Given the description of an element on the screen output the (x, y) to click on. 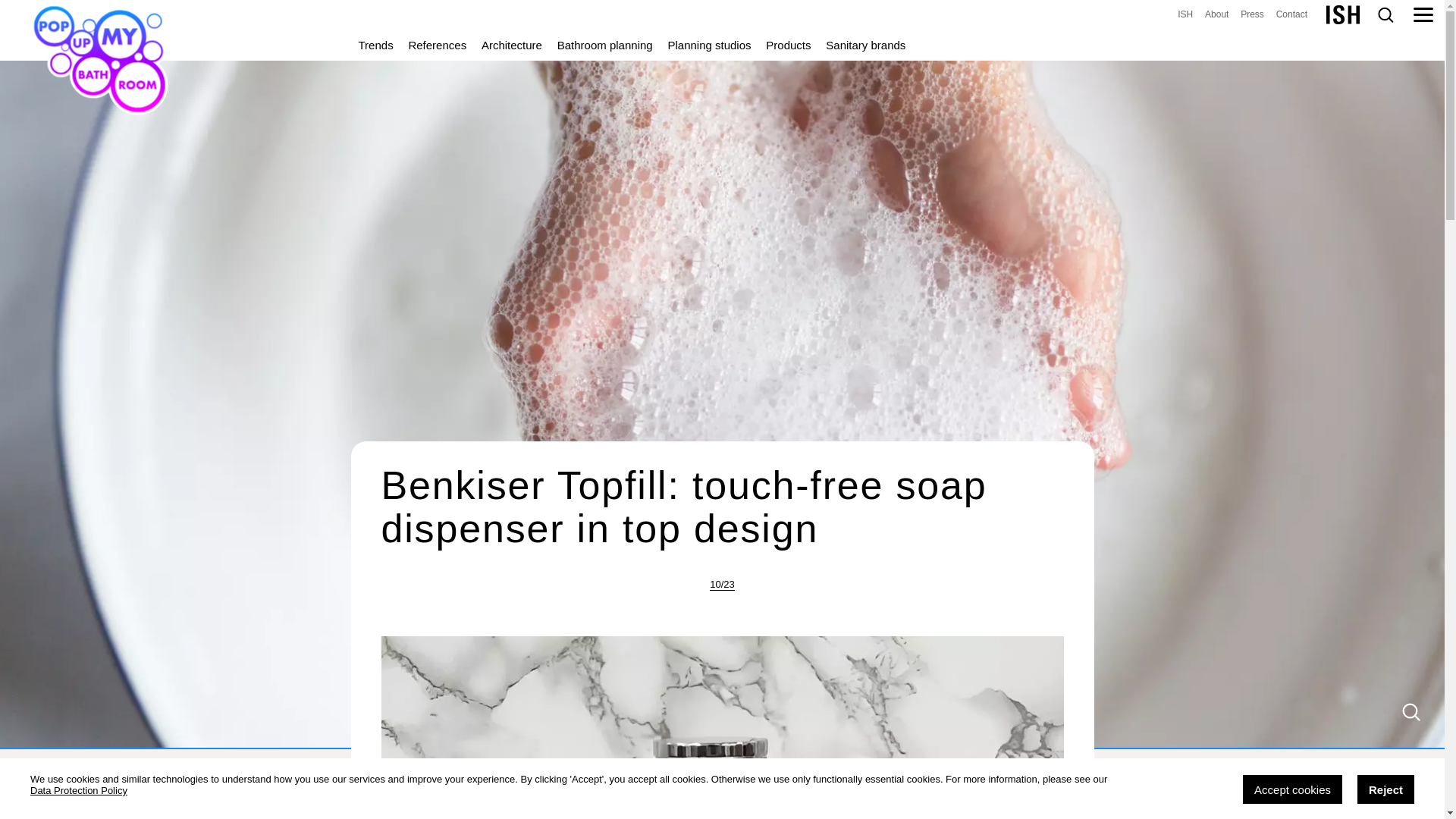
Search (1385, 15)
Trends (375, 45)
Pop up my Atelier (1185, 15)
Bathroom planning (605, 45)
References (437, 45)
Architecture (512, 45)
Products (788, 45)
Planning studios (708, 45)
Sanitary brands (865, 45)
